Given the description of an element on the screen output the (x, y) to click on. 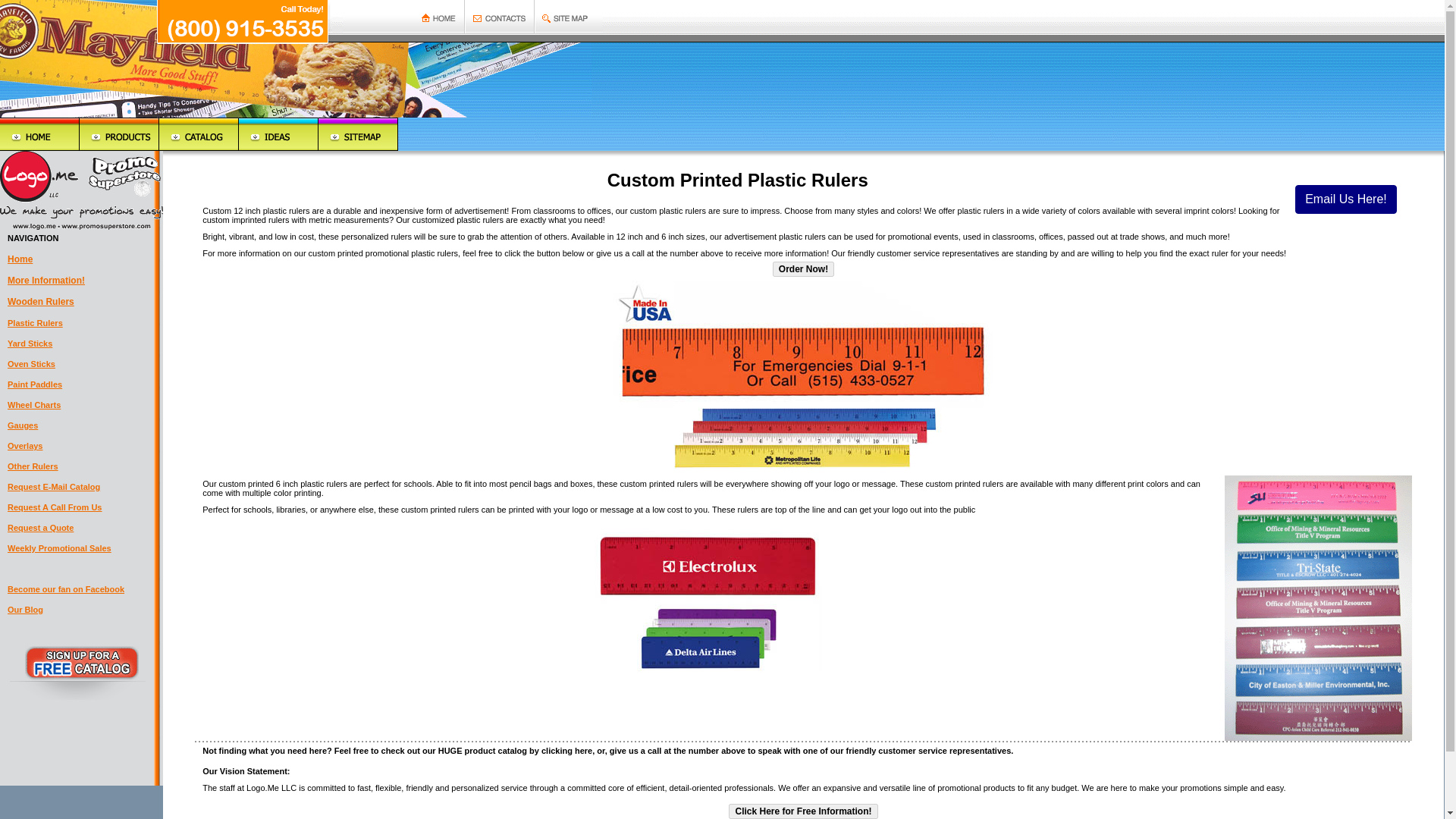
Wheel Charts (34, 404)
Wooden Rulers (40, 301)
Request E-Mail Catalog (53, 486)
Oven Sticks (31, 363)
Email Us Here! (1345, 199)
Click Here for Free Information! (803, 811)
Yard Sticks (29, 343)
Gauges (22, 424)
Our Blog (25, 609)
More Information! (45, 280)
Request A Call From Us (54, 506)
Home (19, 258)
Order Now! (803, 268)
Overlays (24, 445)
Plastic Rulers (34, 322)
